Given the description of an element on the screen output the (x, y) to click on. 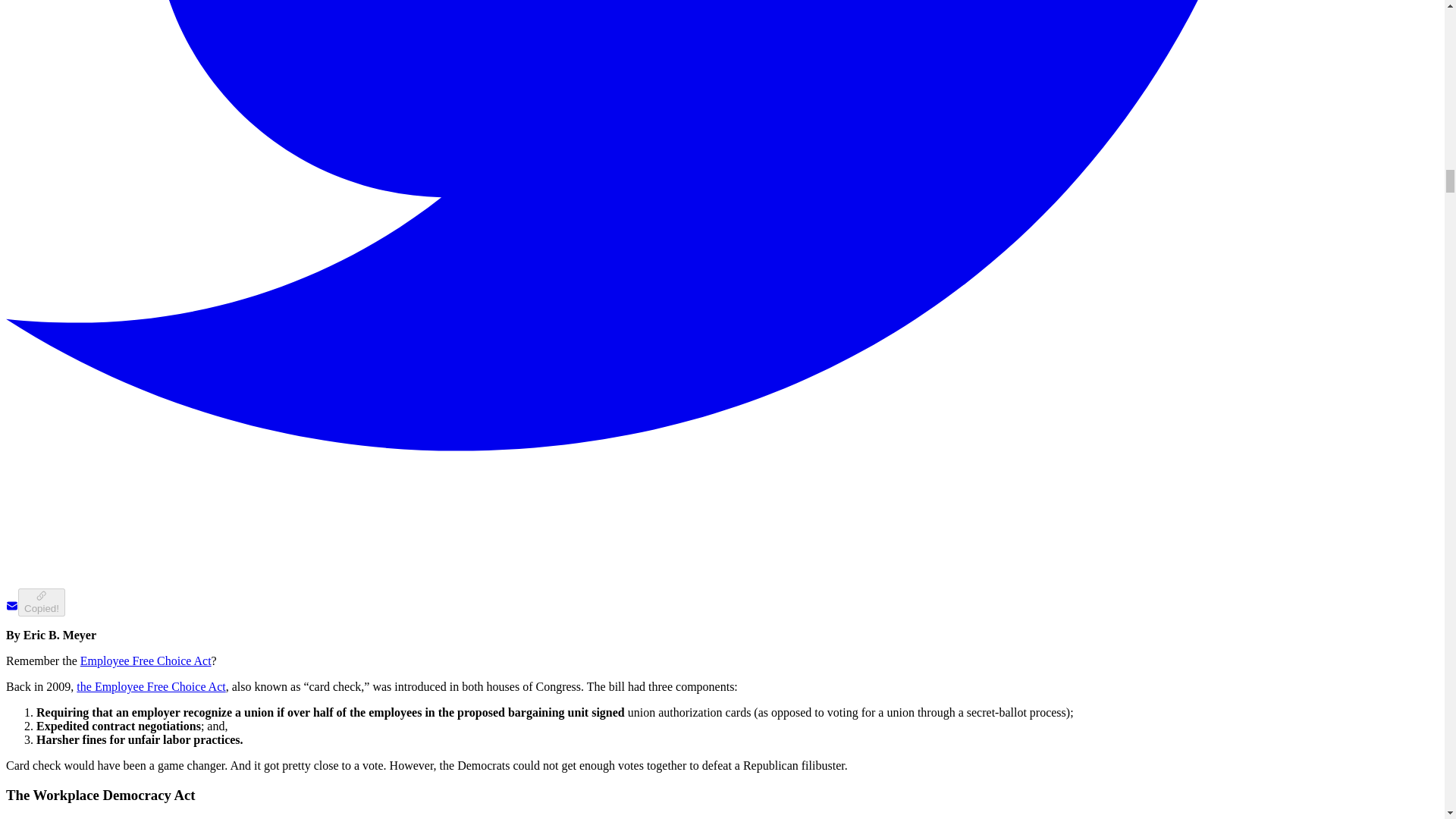
Copied! (41, 602)
the Employee Free Choice Act (151, 686)
Employee Free Choice Act (145, 660)
